Given the description of an element on the screen output the (x, y) to click on. 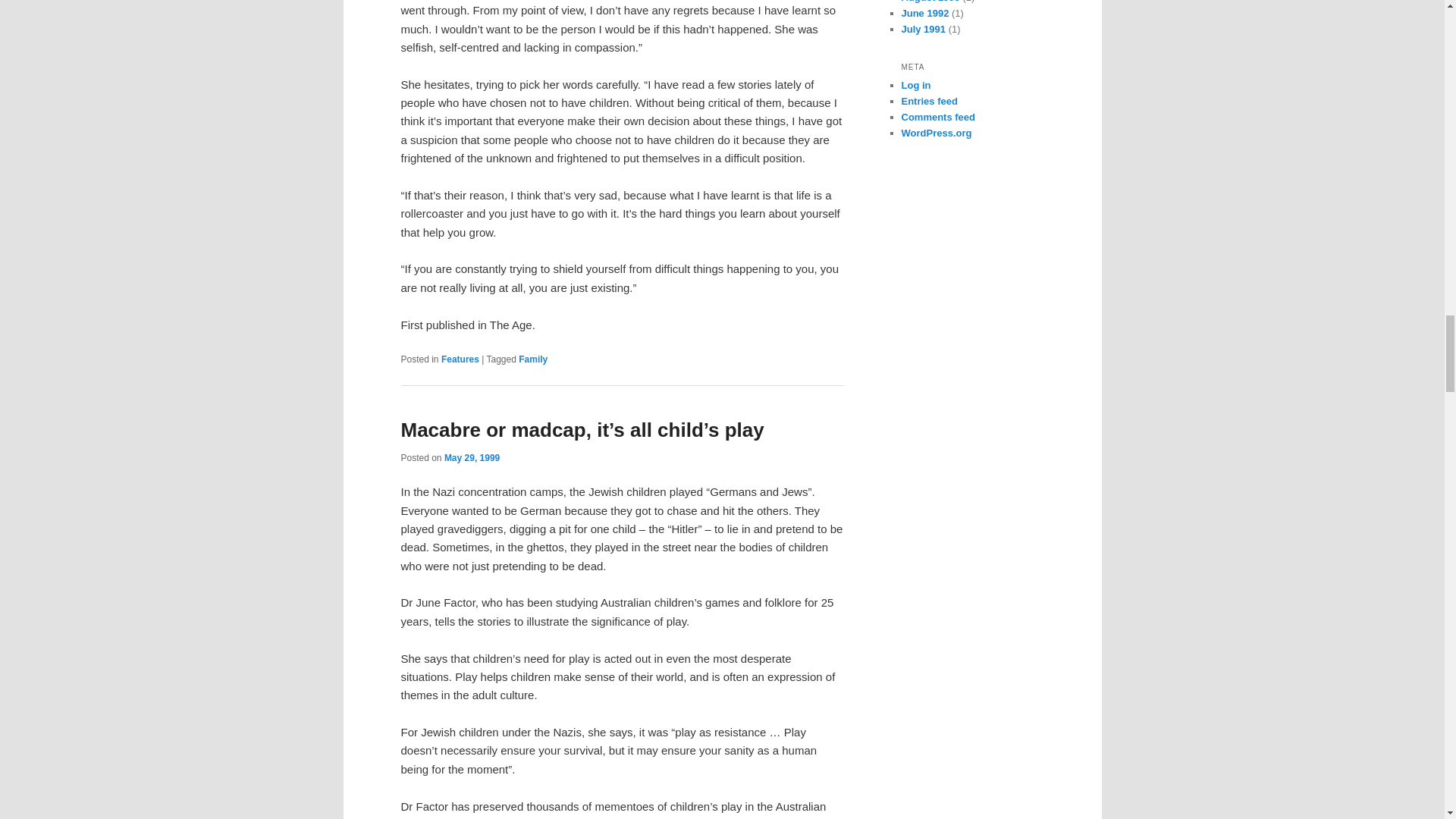
May 29, 1999 (471, 457)
Family (532, 358)
Features (460, 358)
9:07 pm (471, 457)
